Given the description of an element on the screen output the (x, y) to click on. 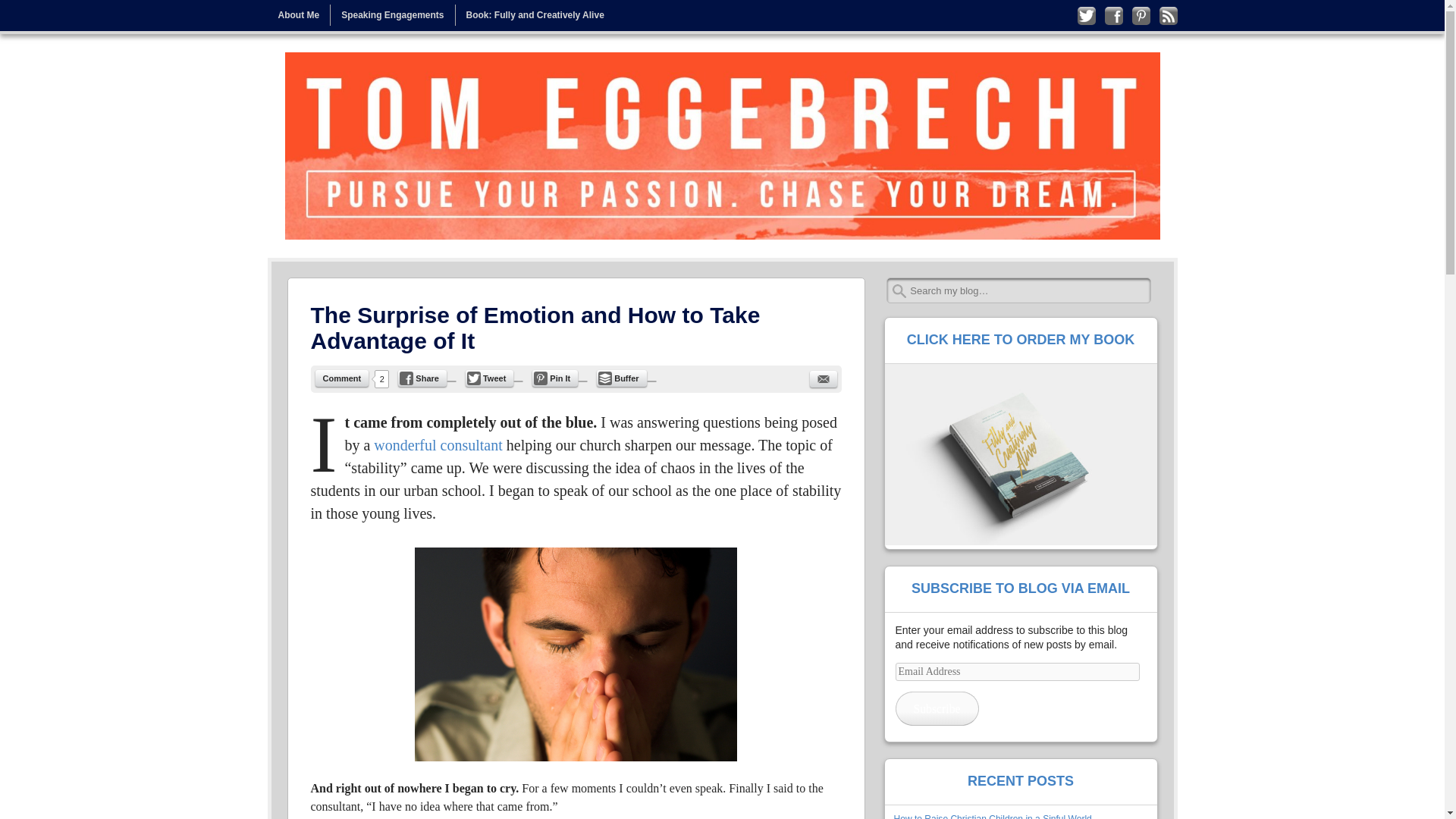
Comment (342, 378)
Pure PR (438, 444)
Share (421, 378)
Follow me on Twitter (1085, 15)
Comment on this Post (342, 378)
Pin it. (555, 378)
Tweet this Post (489, 378)
Subscribe to my RSS Feed (1167, 15)
wonderful consultant (438, 444)
Share with Buffer (621, 378)
